Given the description of an element on the screen output the (x, y) to click on. 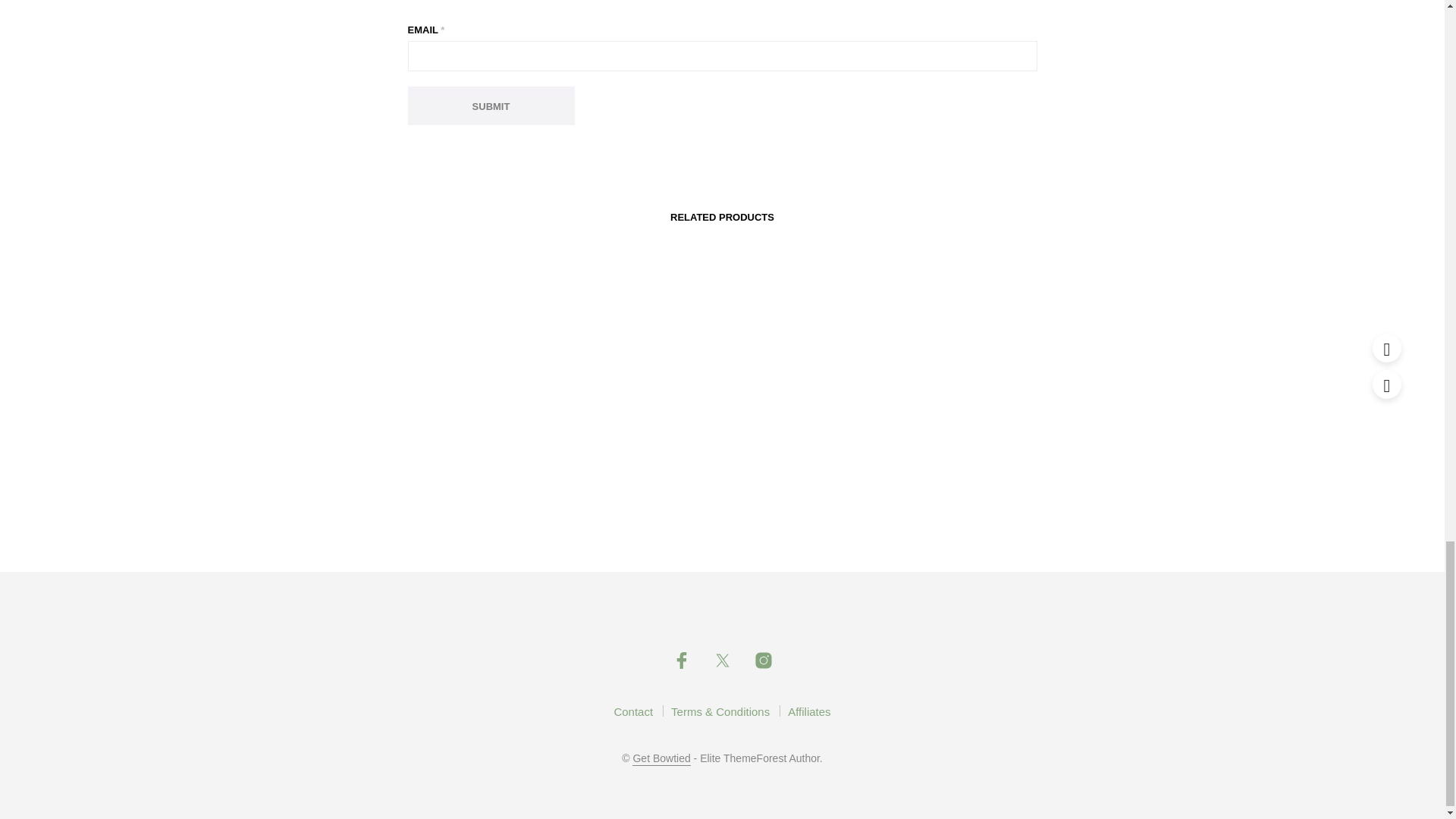
Submit (491, 105)
